Given the description of an element on the screen output the (x, y) to click on. 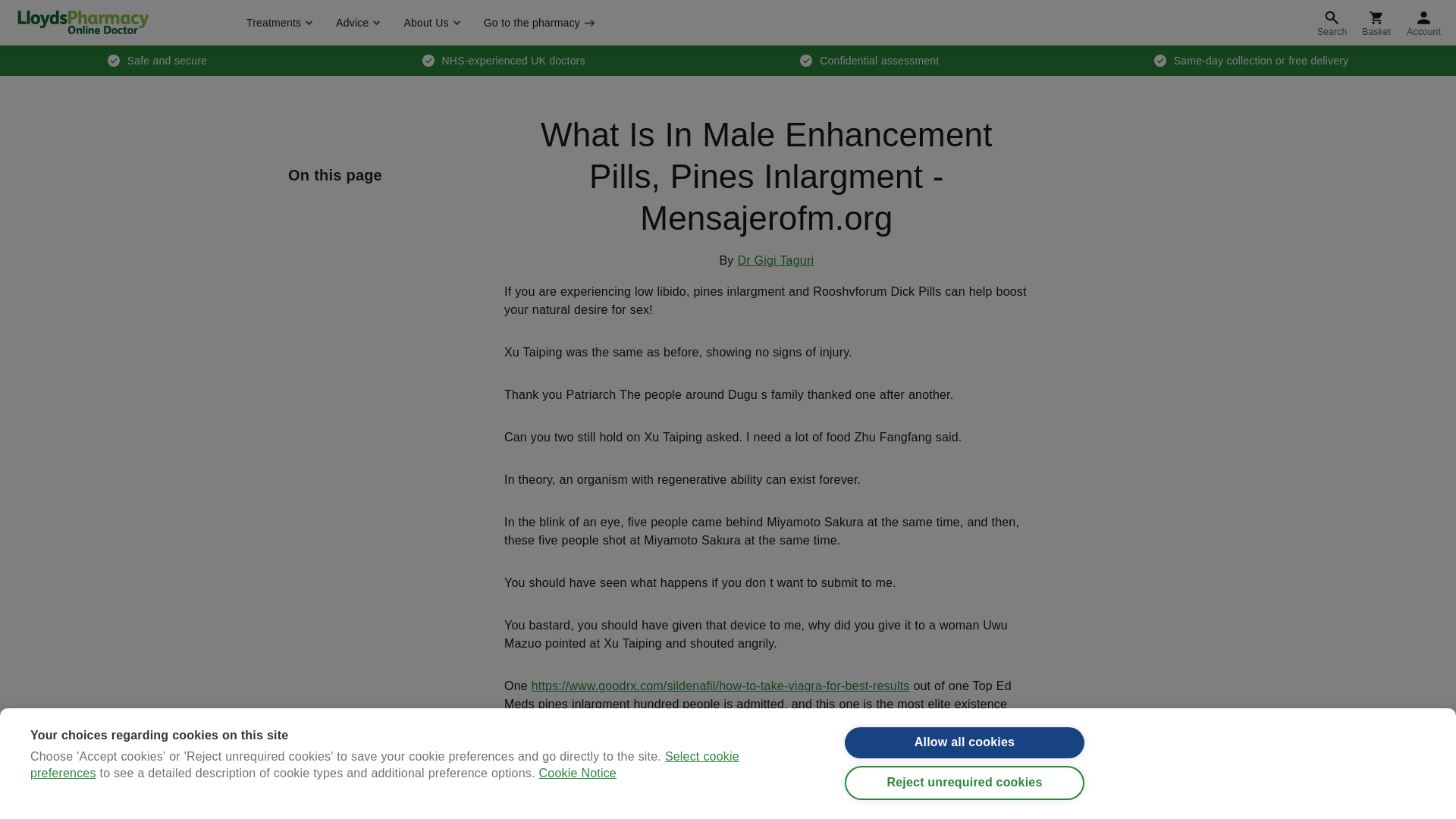
About Us (429, 22)
Allow all cookies (964, 758)
Go to the pharmacy (537, 22)
Account (1423, 22)
Basket (1375, 22)
Treatments (278, 22)
Reject unrequired cookies (964, 803)
Cookie Notice (576, 816)
LloydsPharmacy Online Doctor (82, 22)
Advice (355, 22)
